Given the description of an element on the screen output the (x, y) to click on. 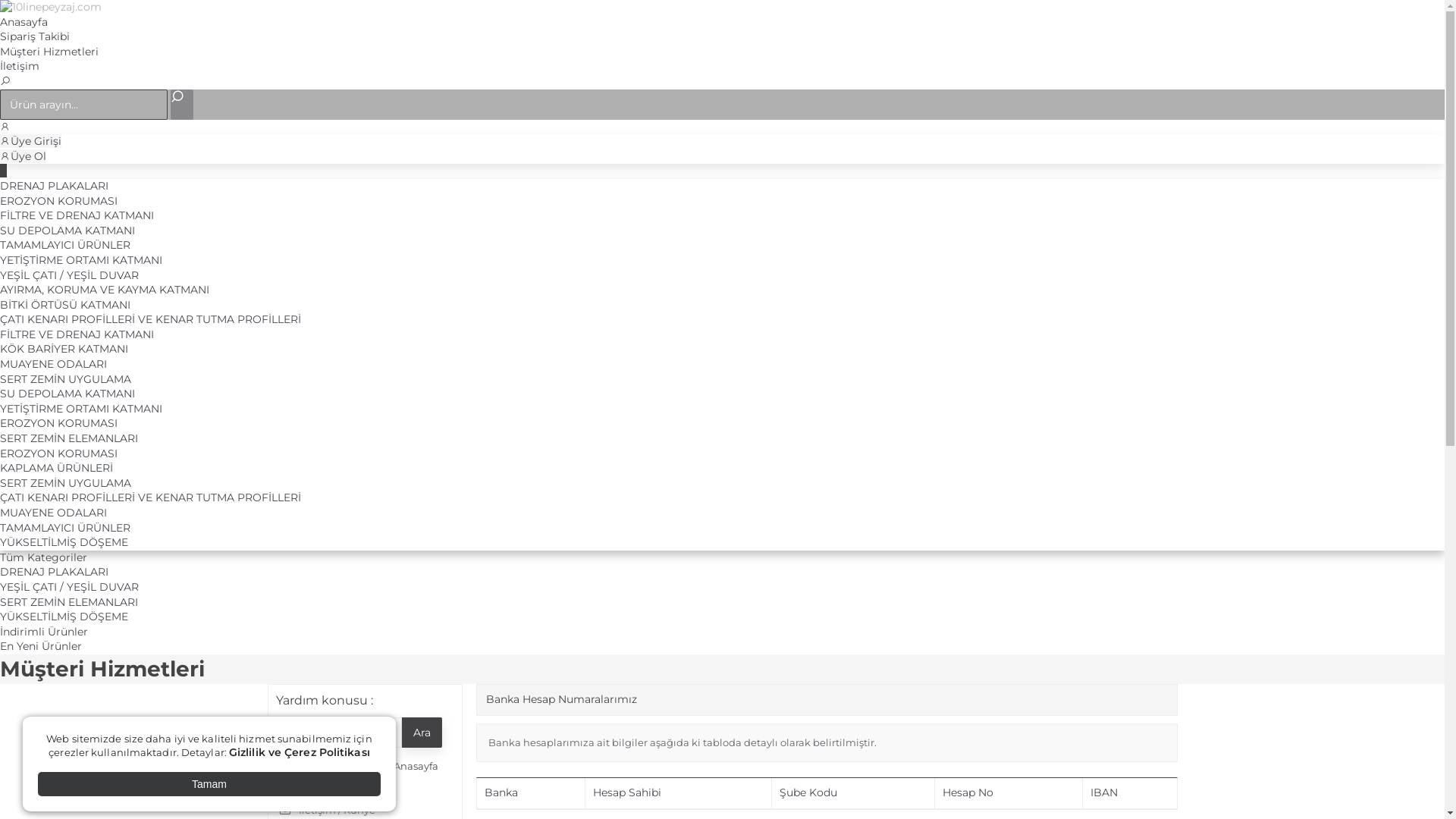
DRENAJ PLAKALARI Element type: text (54, 571)
Tamam Element type: text (208, 783)
MUAYENE ODALARI Element type: text (53, 512)
EROZYON KORUMASI Element type: text (58, 453)
Ara Element type: text (421, 732)
DRENAJ PLAKALARI Element type: text (54, 185)
10linepeyzaj.com Element type: hover (50, 6)
SU DEPOLAMA KATMANI Element type: text (67, 393)
EROZYON KORUMASI Element type: text (58, 422)
SU DEPOLAMA KATMANI Element type: text (67, 230)
EROZYON KORUMASI Element type: text (58, 200)
MUAYENE ODALARI Element type: text (53, 363)
Anasayfa Element type: text (23, 21)
0 Element type: text (3, 170)
AYIRMA, KORUMA VE KAYMA KATMANI Element type: text (104, 289)
